Given the description of an element on the screen output the (x, y) to click on. 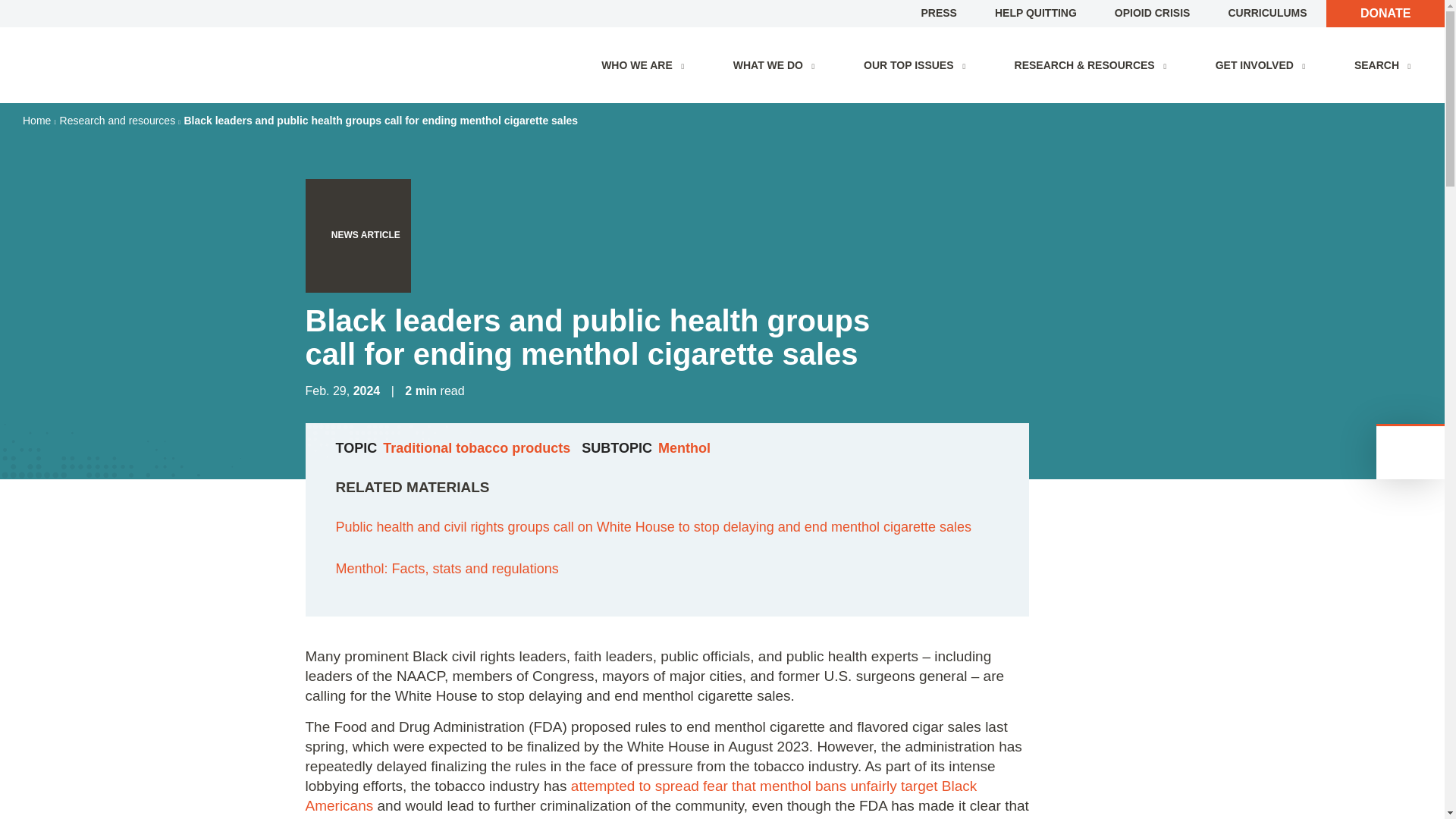
OUR TOP ISSUES (918, 64)
PRESS (938, 12)
CURRICULUMS (1266, 12)
OPIOID CRISIS (1153, 12)
HELP QUITTING (1035, 12)
WHO WE ARE (646, 64)
GET INVOLVED (1263, 64)
SEARCH (1385, 64)
WHAT WE DO (777, 64)
DONATE (1384, 13)
